Given the description of an element on the screen output the (x, y) to click on. 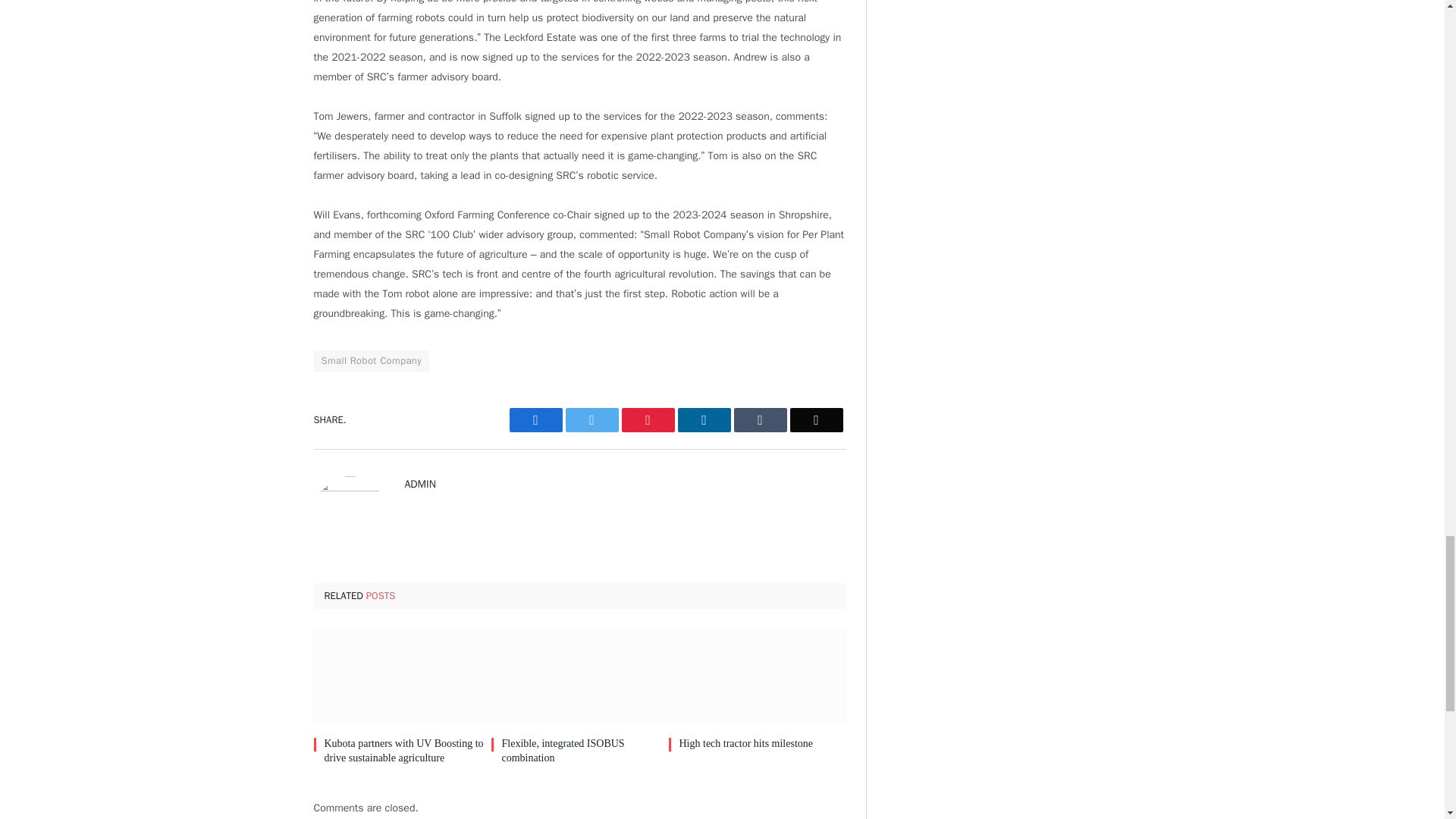
Share on Pinterest (648, 419)
Share via Email (816, 419)
Share on Tumblr (760, 419)
Share on Twitter (535, 419)
Share on Twitter (592, 419)
Share on LinkedIn (704, 419)
Posts by admin (419, 483)
